Given the description of an element on the screen output the (x, y) to click on. 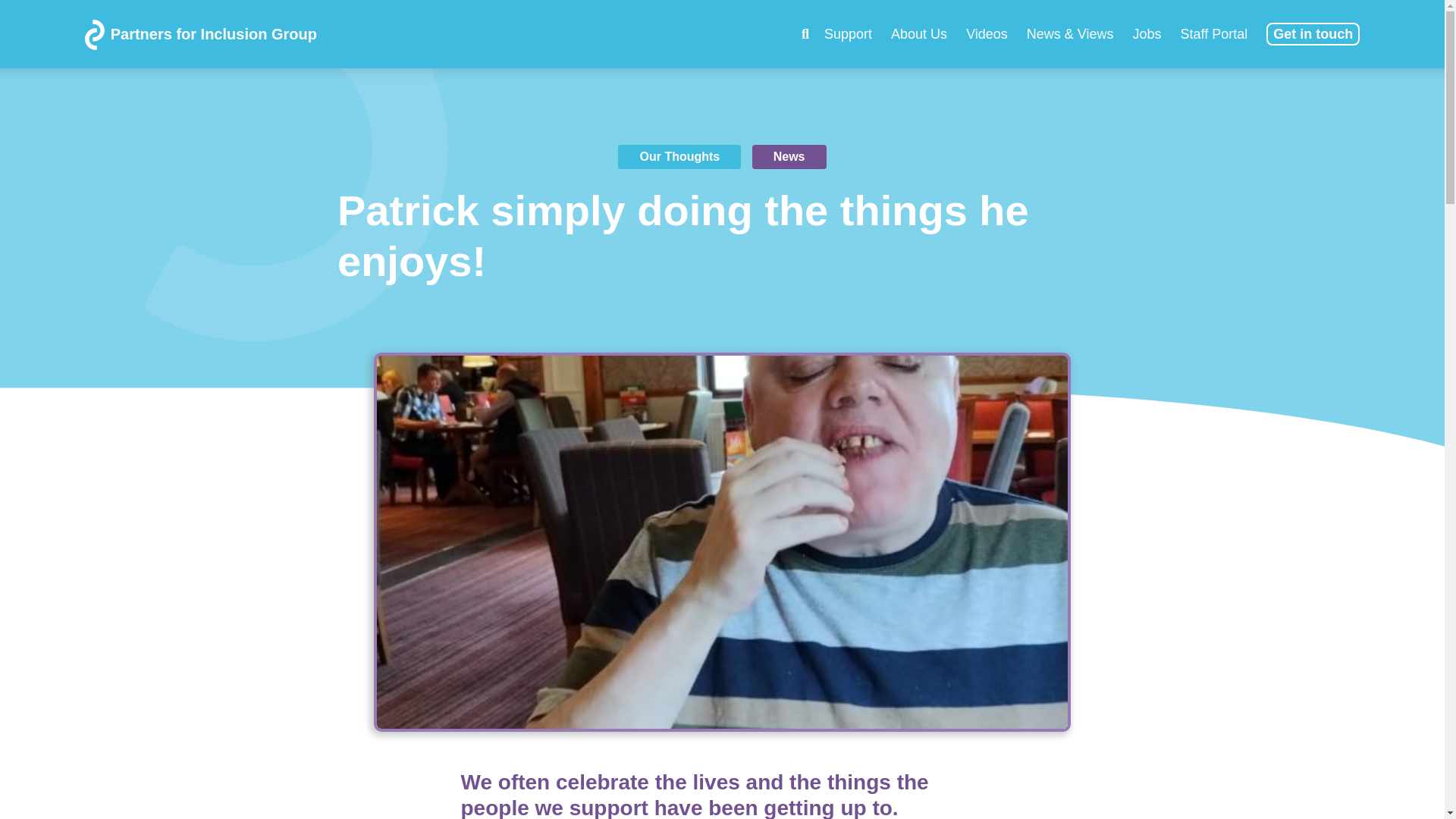
Our Thoughts (679, 155)
Videos (986, 33)
About Us (919, 33)
Staff Portal (1213, 33)
Support (848, 33)
News (788, 155)
Partners for Inclusion Group (289, 33)
Jobs (1146, 33)
Get in touch (1312, 33)
